Given the description of an element on the screen output the (x, y) to click on. 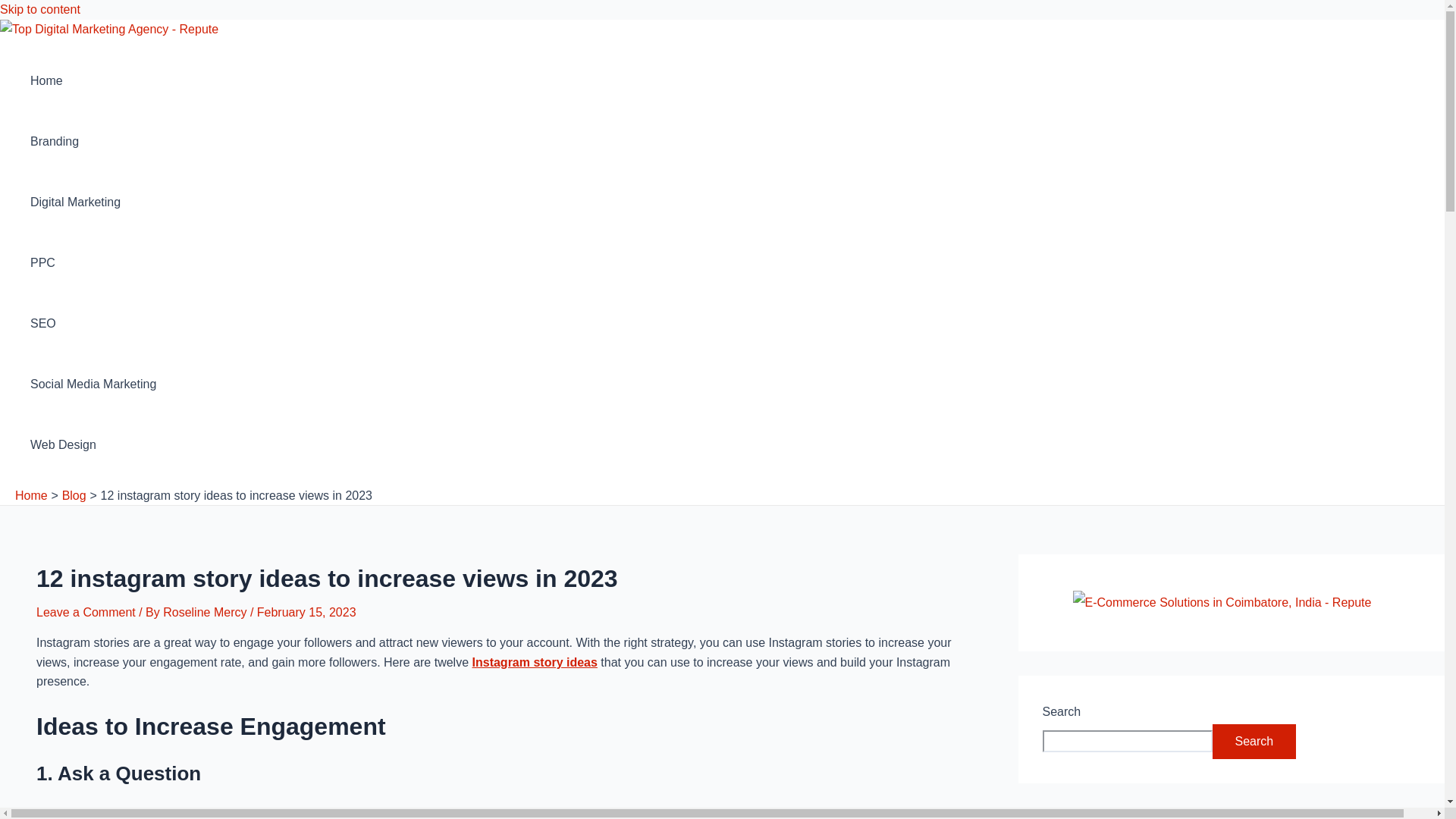
View all posts by Roseline Mercy (206, 612)
Social Media Marketing (92, 383)
Branding (92, 141)
Home (92, 80)
Skip to content (40, 9)
PPC (92, 262)
Instagram story ideas (533, 662)
Web Design (92, 444)
Leave a Comment (85, 612)
Blog (73, 495)
Digital Marketing (92, 201)
Skip to content (40, 9)
Roseline Mercy (206, 612)
Home (31, 495)
SEO (92, 323)
